Given the description of an element on the screen output the (x, y) to click on. 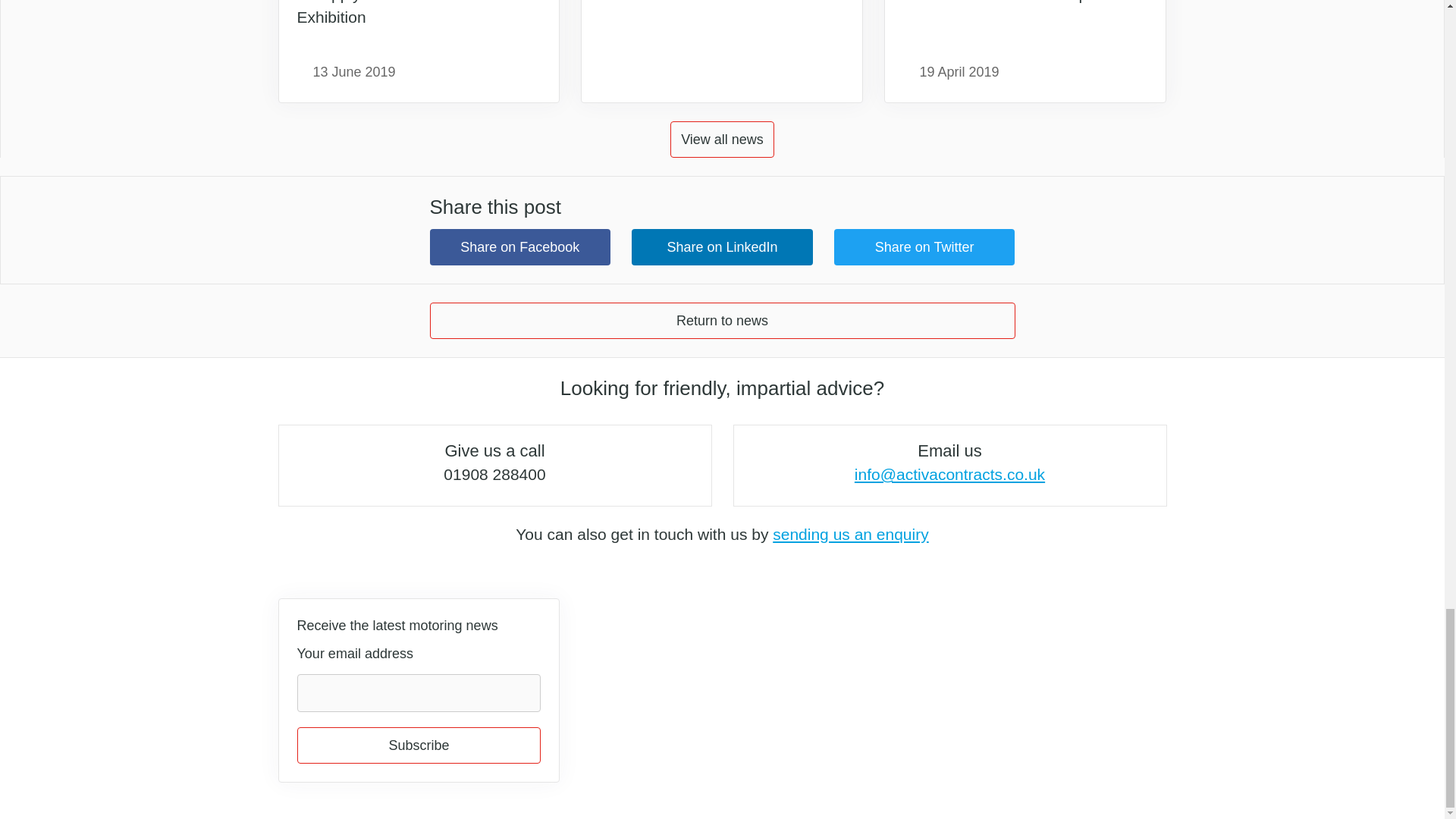
Share on Twitter (924, 247)
sending us an enquiry (850, 533)
Share on Facebook (519, 247)
01908 288400 (494, 474)
View all news (721, 139)
Return to news (721, 320)
Subscribe (419, 745)
Share on LinkedIn (721, 247)
